Given the description of an element on the screen output the (x, y) to click on. 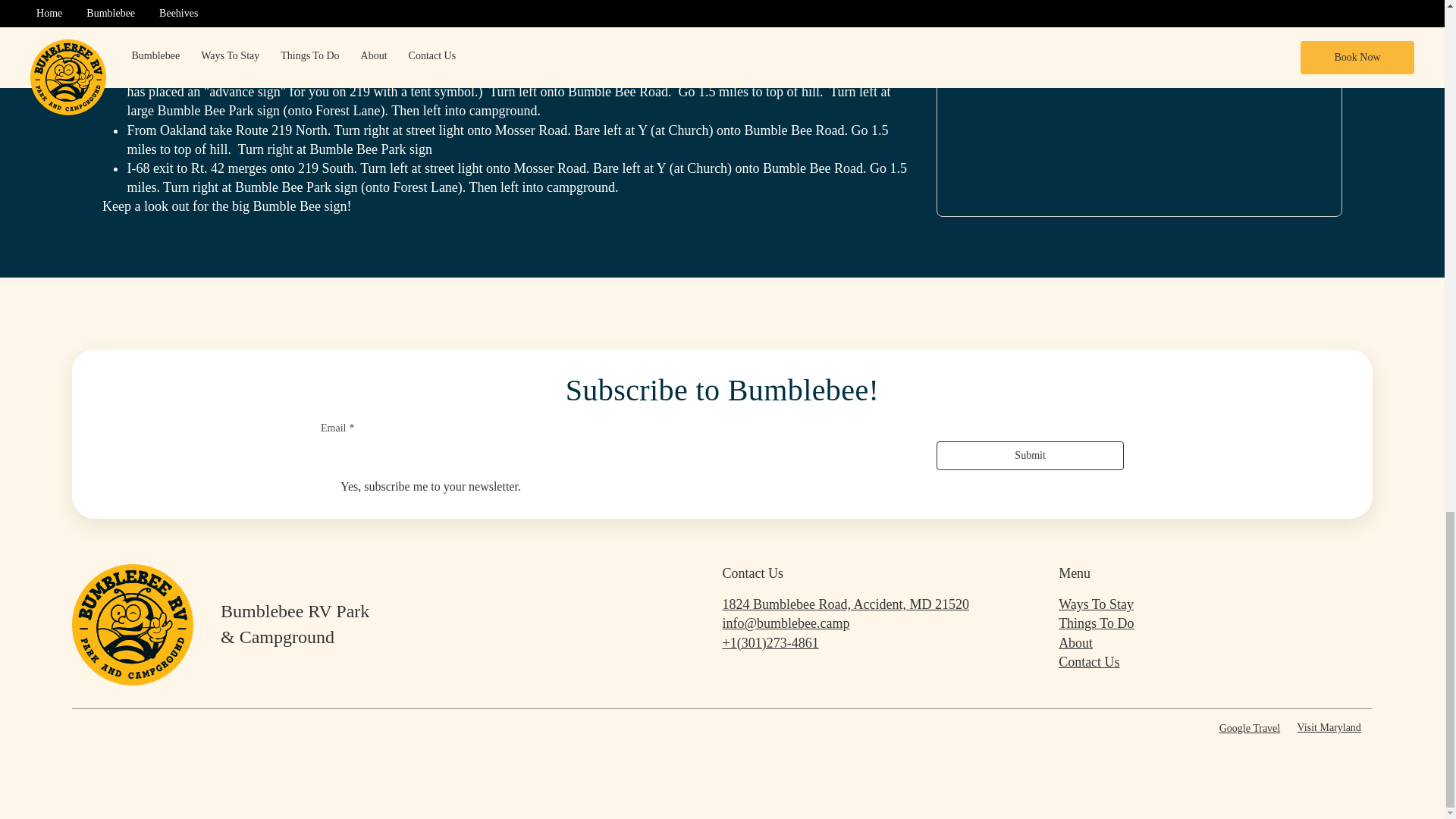
Things To Do (1096, 622)
Submit (1030, 455)
Visit Maryland (1329, 727)
Google Travel (1250, 727)
Ways To Stay (1096, 604)
1824 Bumblebee Road, Accident, MD 21520 (845, 604)
Contact Us (1088, 661)
About (1075, 642)
